Given the description of an element on the screen output the (x, y) to click on. 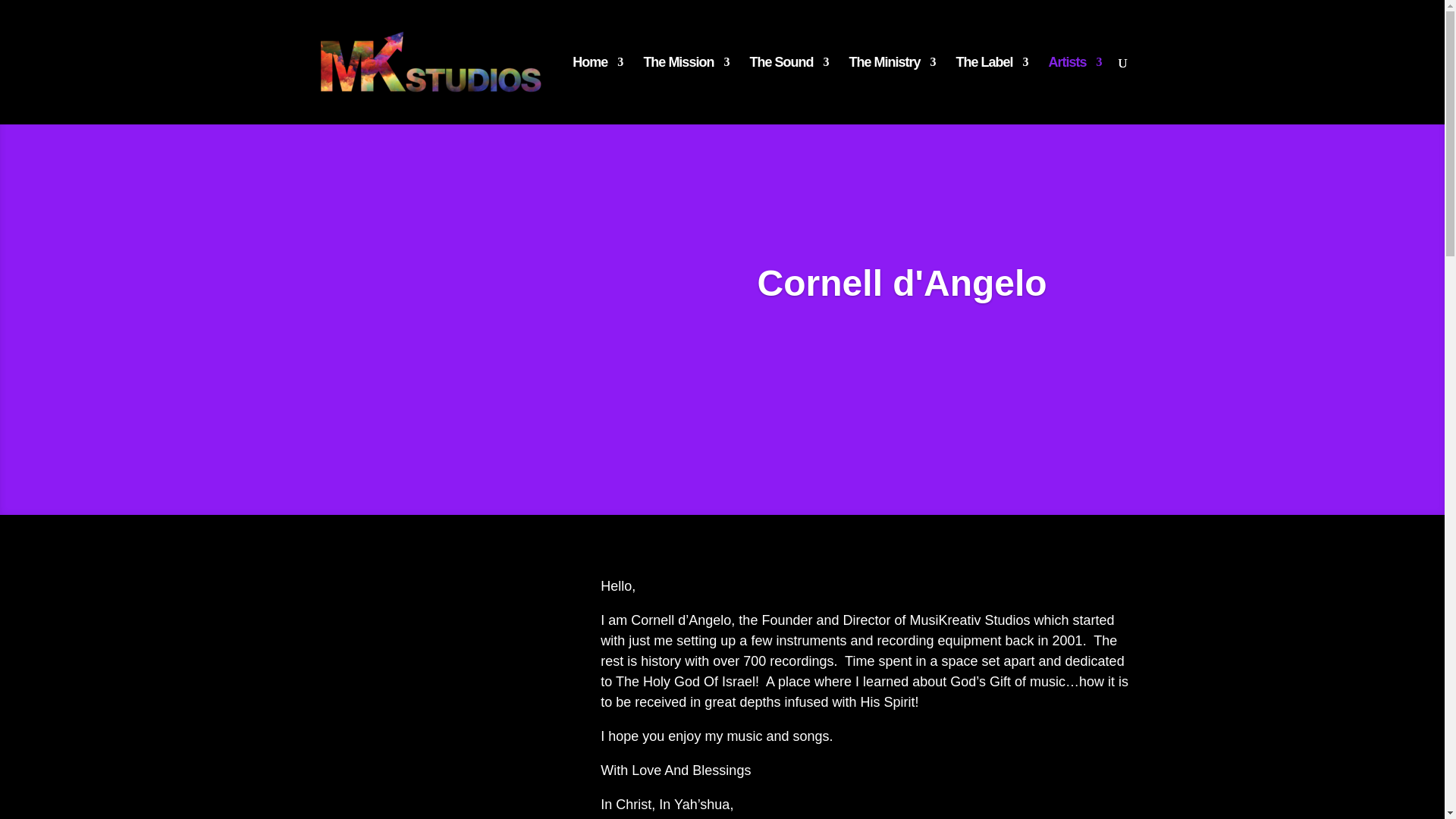
The Ministry (891, 90)
The Mission (686, 90)
The Label (991, 90)
The Sound (788, 90)
